Given the description of an element on the screen output the (x, y) to click on. 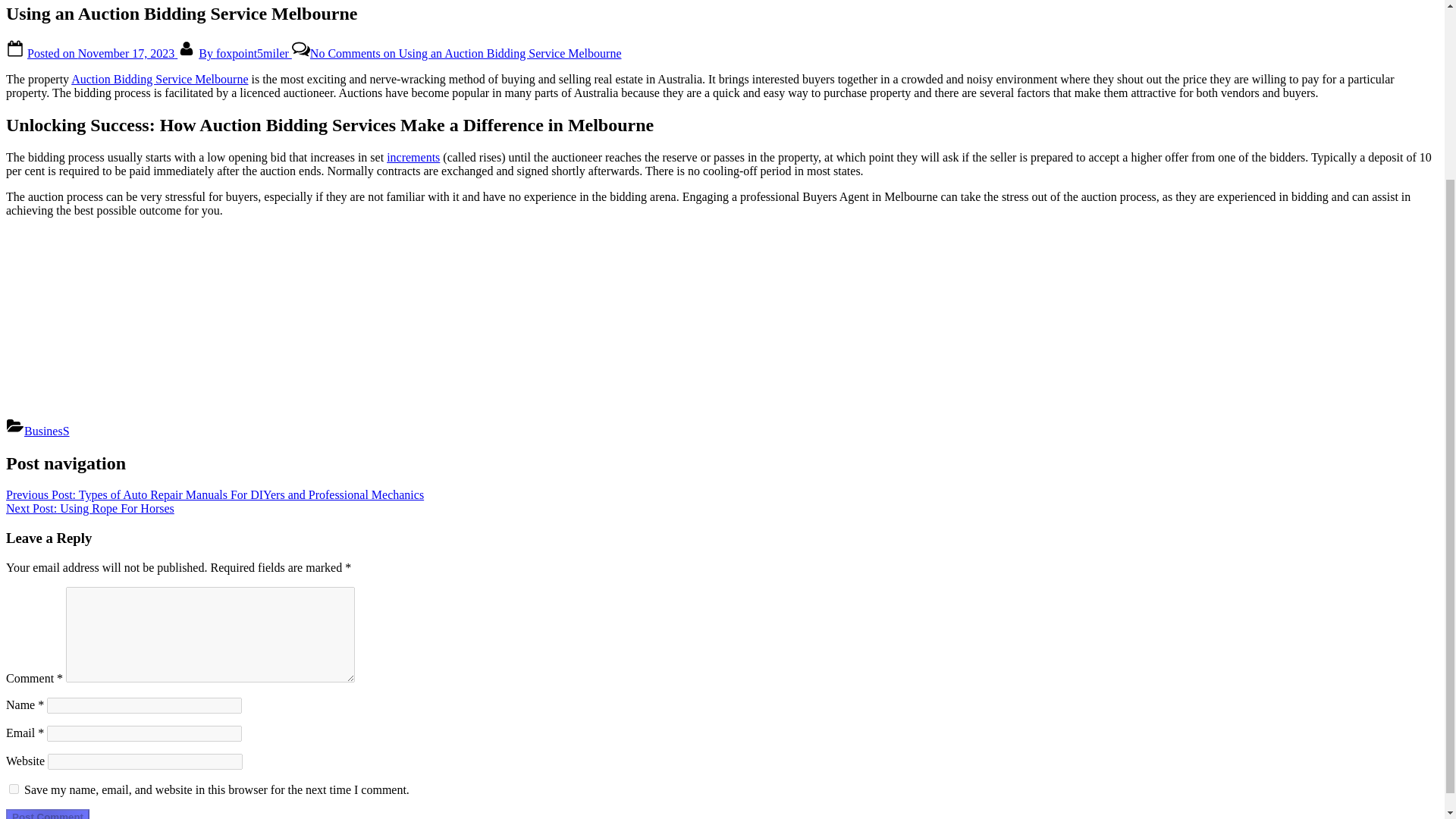
BusinesS (46, 431)
No Comments on Using an Auction Bidding Service Melbourne (465, 52)
increments (413, 156)
By foxpoint5miler (245, 52)
yes (13, 788)
Posted on November 17, 2023 (102, 52)
Auction Bidding Service Melbourne (159, 78)
Next Post: Using Rope For Horses (89, 508)
